Given the description of an element on the screen output the (x, y) to click on. 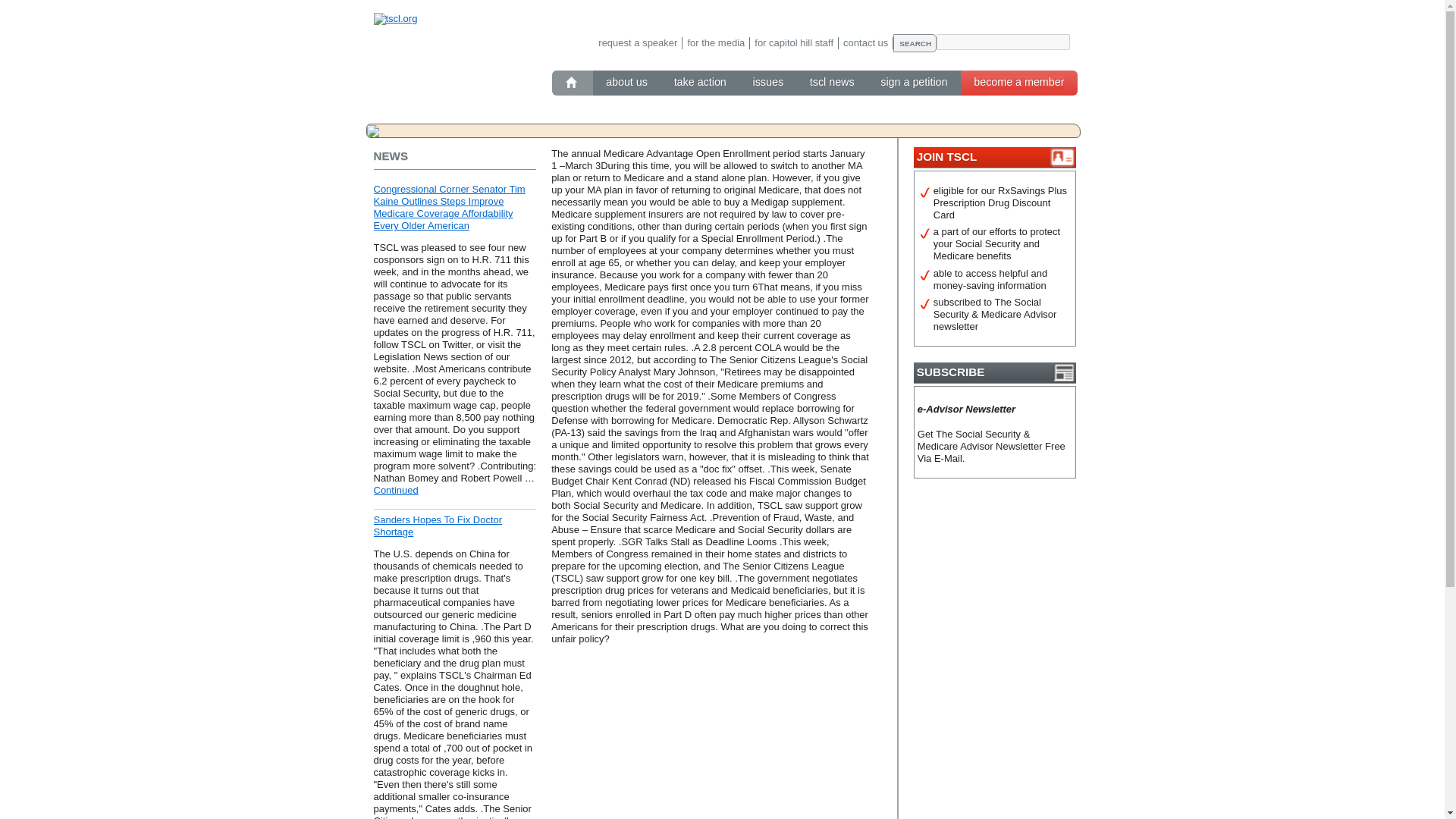
sign a petition (913, 82)
about us (626, 82)
for capitol hill staff (793, 42)
Continued (394, 490)
Home (571, 82)
Search (914, 43)
tscl news (831, 82)
take action (700, 82)
request a speaker (638, 42)
